Given the description of an element on the screen output the (x, y) to click on. 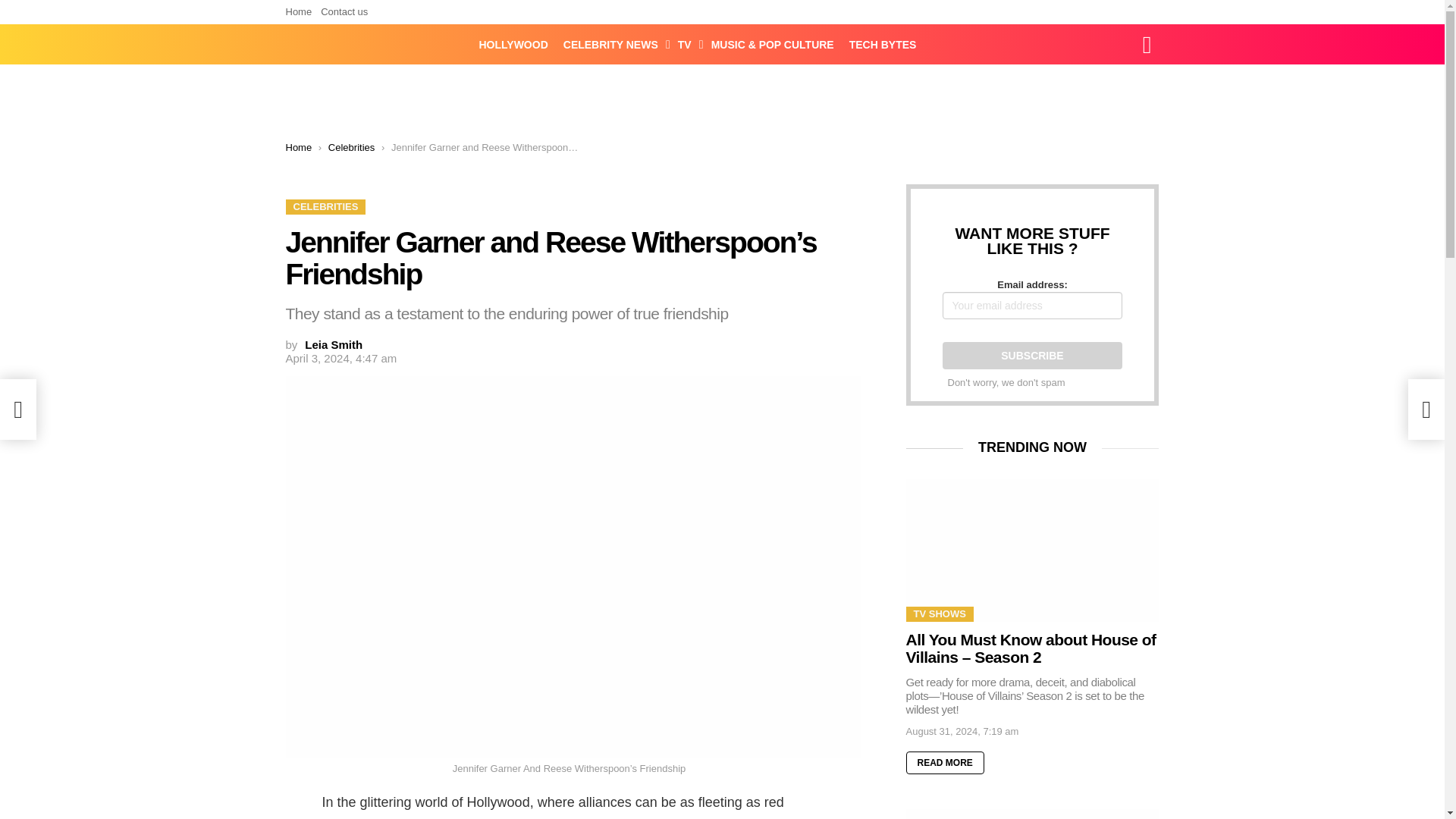
CELEBRITY NEWS (612, 44)
Subscribe (1032, 355)
CRY (832, 98)
Posts by Leia Smith (333, 344)
TV (686, 44)
HOLLYWOOD (513, 44)
ANGRY (726, 98)
Love (809, 199)
Cute (844, 199)
WTF (885, 98)
